Given the description of an element on the screen output the (x, y) to click on. 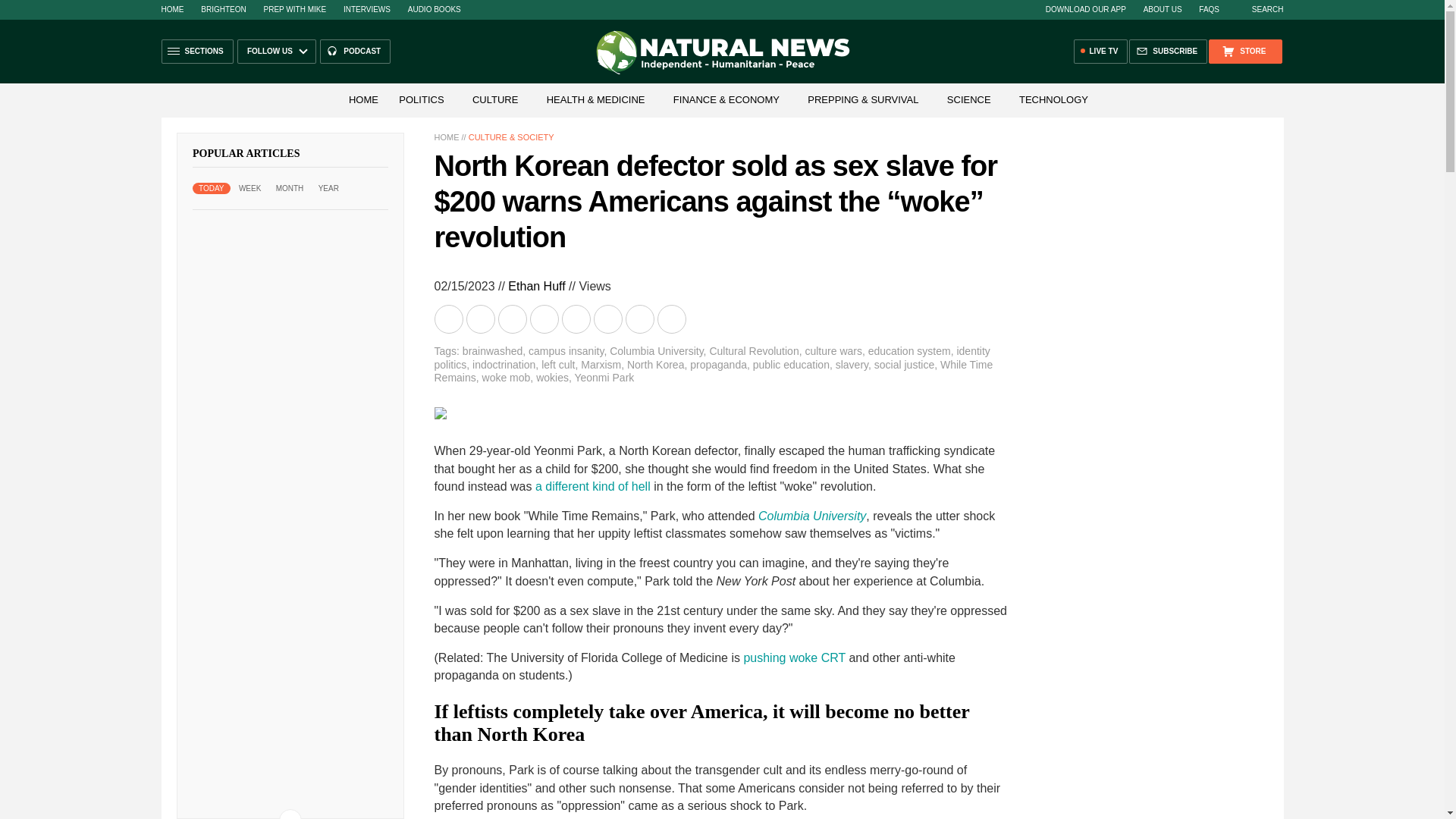
Share on Truth.Social (608, 318)
Share on Twitter (513, 318)
Share on GAB (576, 318)
BRIGHTEON (223, 8)
INTERVIEWS (366, 8)
TECHNOLOGY (1053, 99)
HOME (171, 8)
LIVE TV (1101, 51)
Share on Telegram (544, 318)
Share on Facebook (481, 318)
CULTURE (495, 99)
SUBSCRIBE (1168, 51)
FAQS (1209, 8)
More Share Options (672, 318)
STORE (1244, 51)
